Given the description of an element on the screen output the (x, y) to click on. 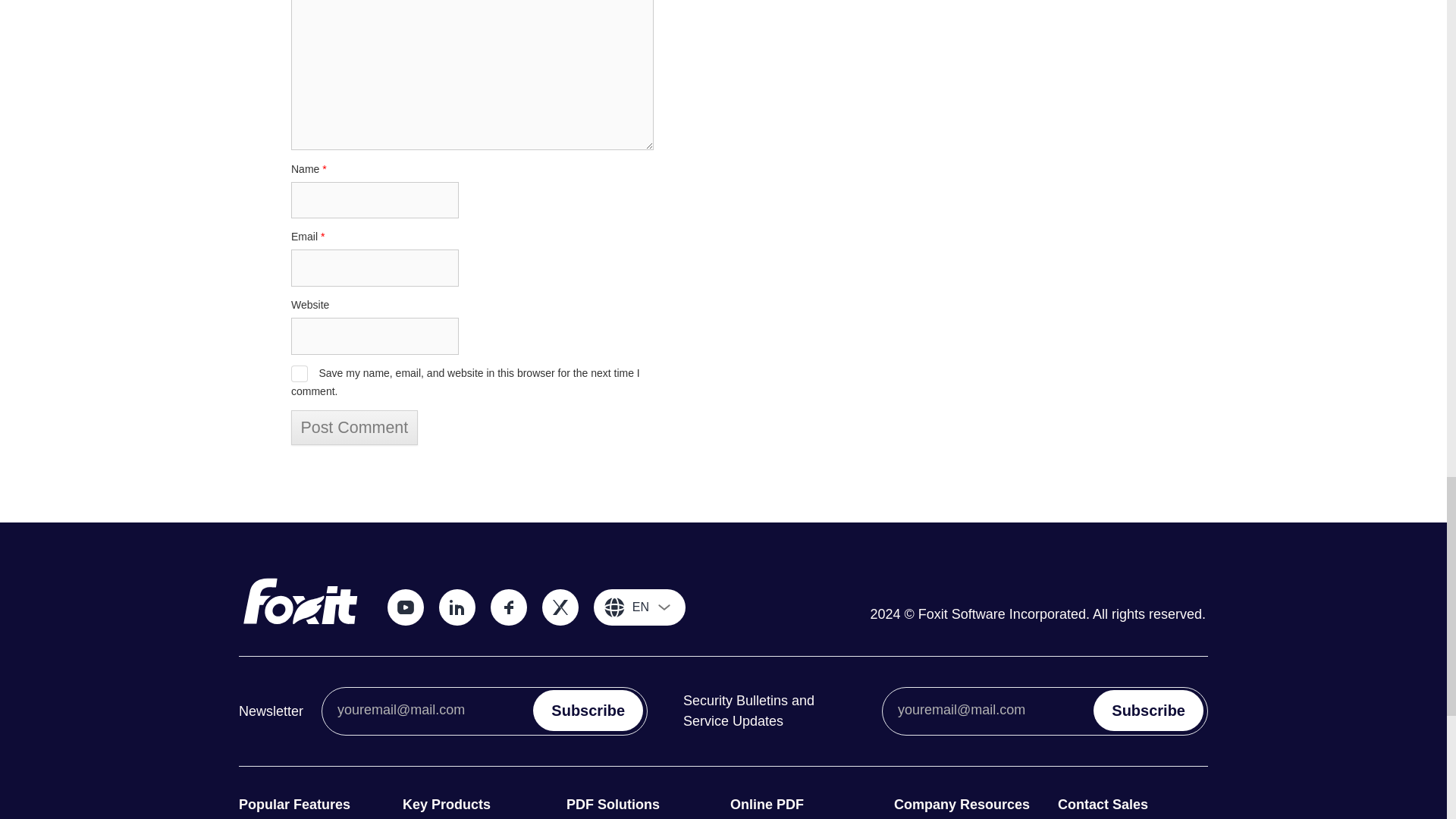
Post Comment (354, 427)
yes (299, 373)
